Given the description of an element on the screen output the (x, y) to click on. 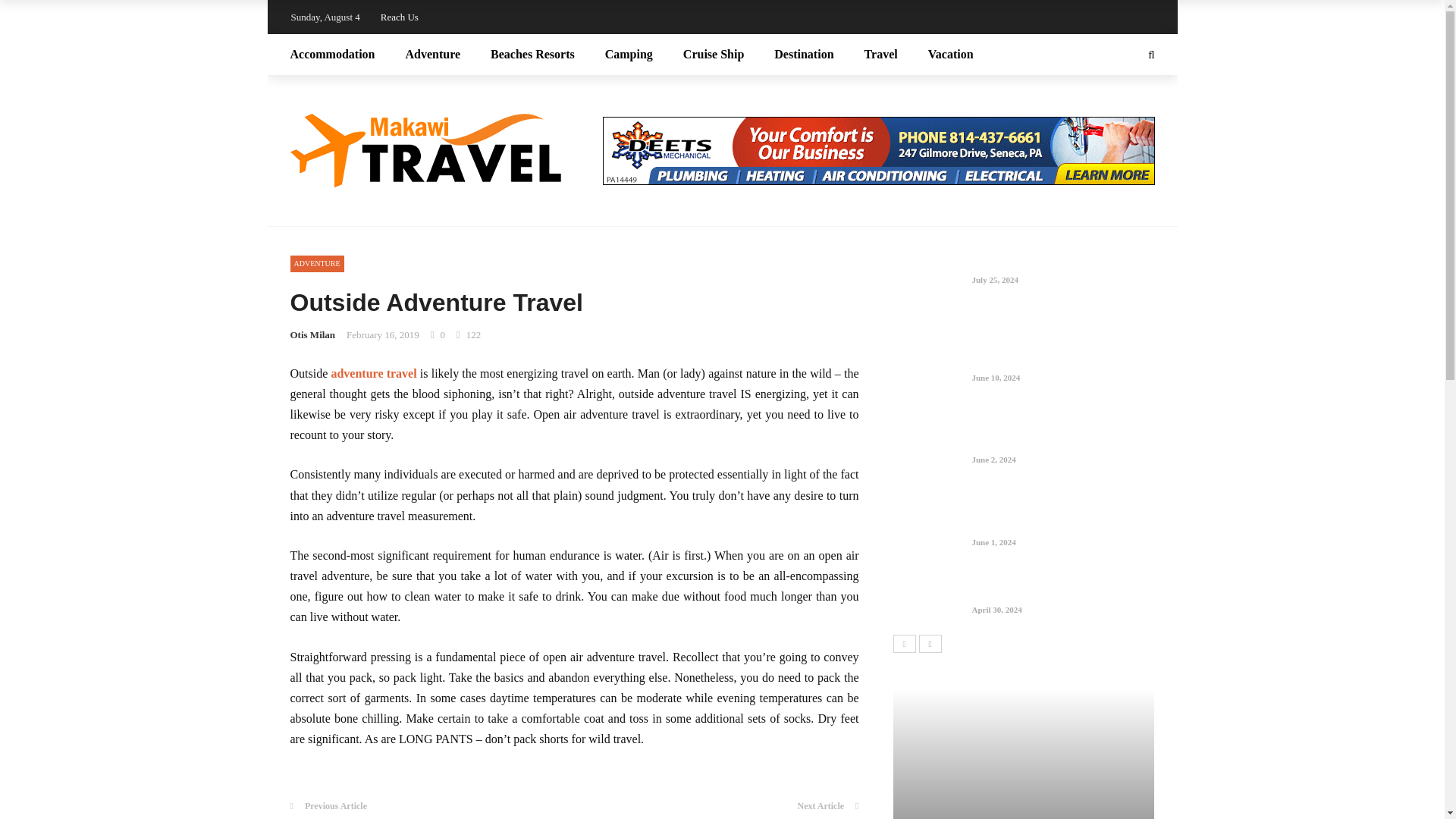
Destination (803, 54)
Next (930, 642)
Reach Us (399, 16)
Travel (880, 54)
Adventure (433, 54)
adventure travel (373, 373)
Vacation (943, 54)
Cruise Ship (713, 54)
Previous (904, 642)
Camping (628, 54)
Beaches Resorts (532, 54)
Accommodation (339, 54)
Otis Milan (311, 334)
ADVENTURE (316, 263)
